Given the description of an element on the screen output the (x, y) to click on. 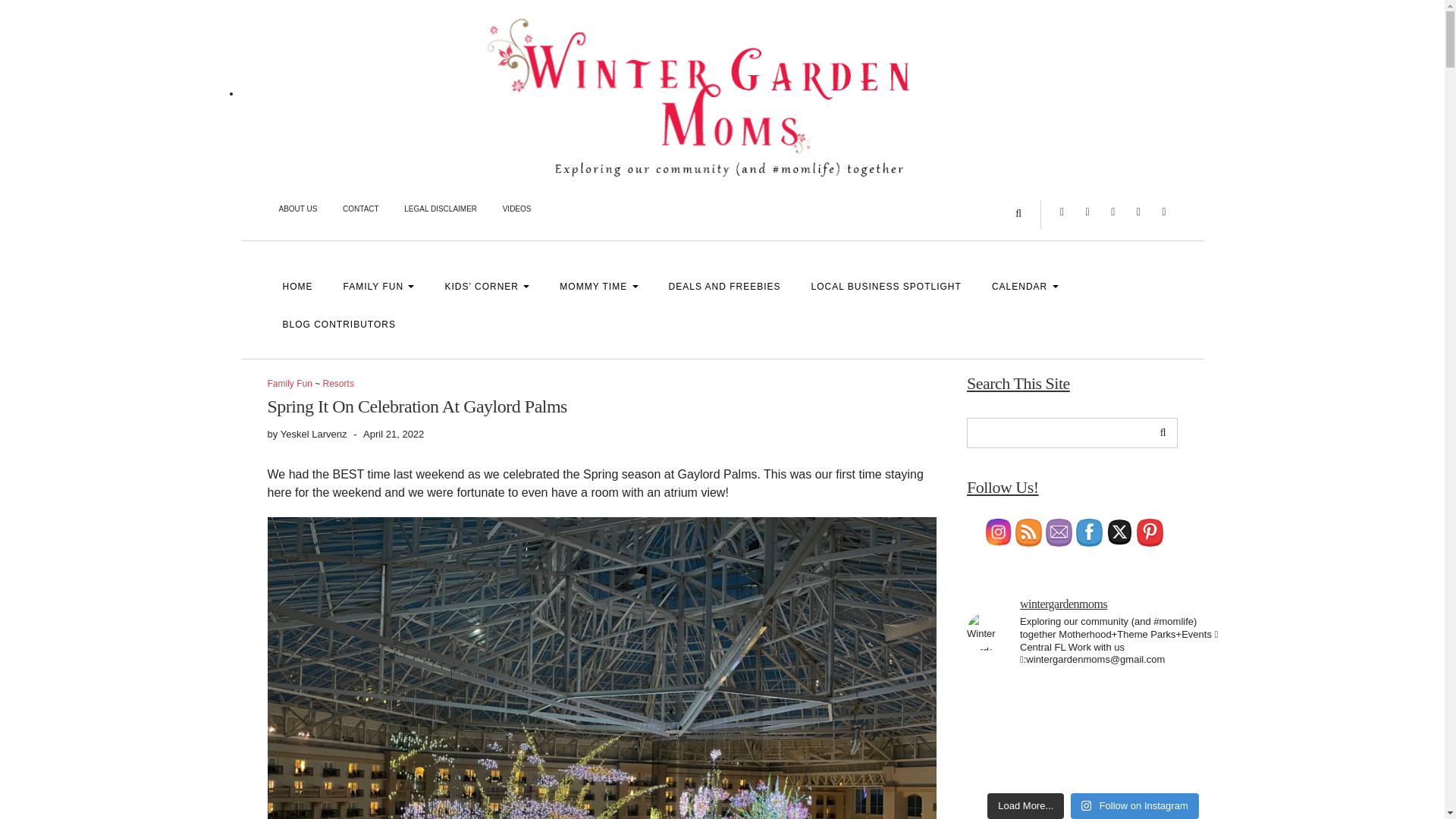
Instagram (1061, 210)
LEGAL DISCLAIMER (440, 210)
CALENDAR (1025, 286)
Family Fun (288, 383)
LOCAL BUSINESS SPOTLIGHT (886, 286)
Twitter (1163, 210)
HOME (296, 286)
MOMMY TIME (598, 286)
Facebook (1087, 210)
BLOG CONTRIBUTORS (330, 324)
